Given the description of an element on the screen output the (x, y) to click on. 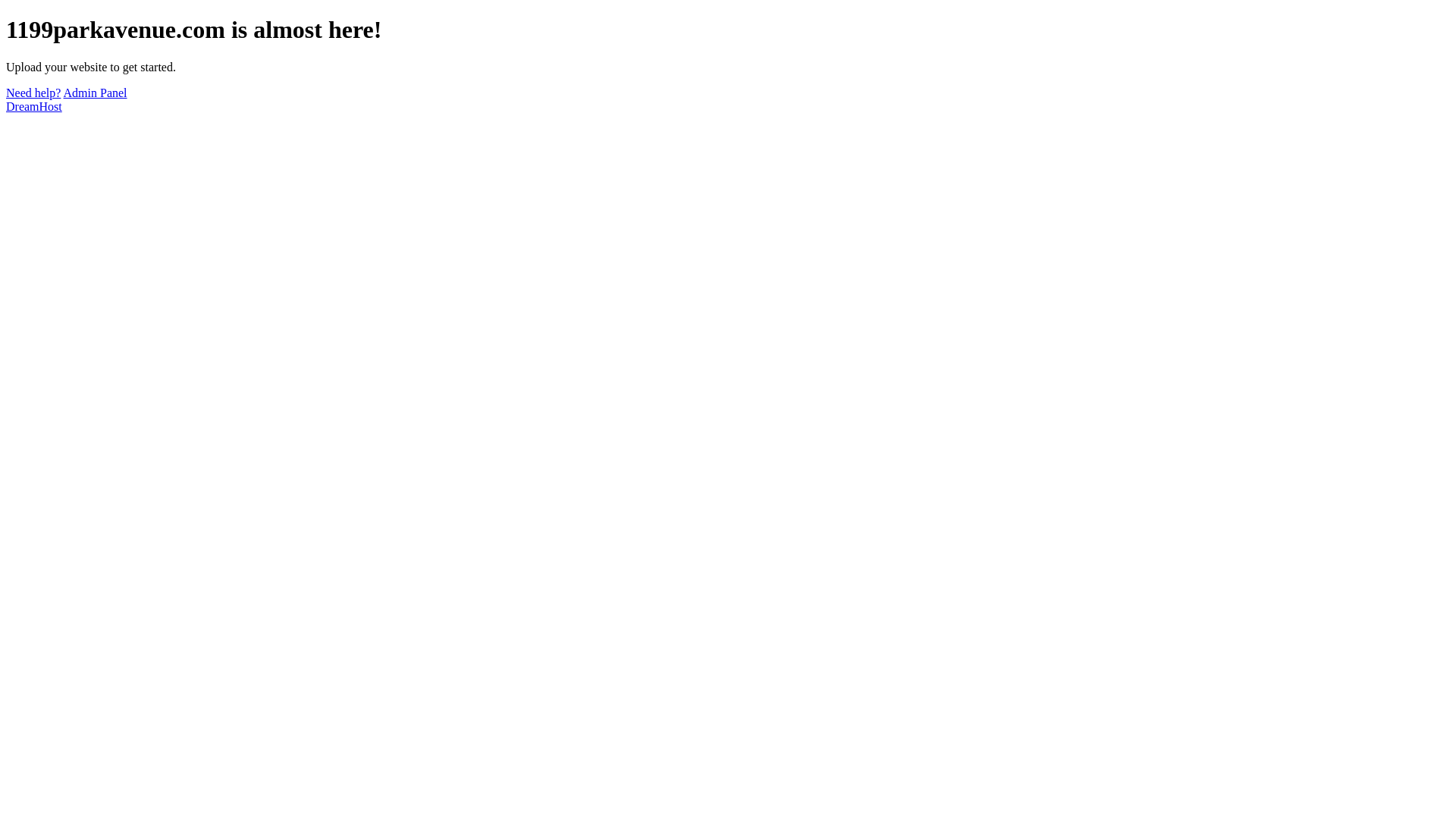
Admin Panel Element type: text (95, 92)
DreamHost Element type: text (34, 106)
Need help? Element type: text (33, 92)
